Given the description of an element on the screen output the (x, y) to click on. 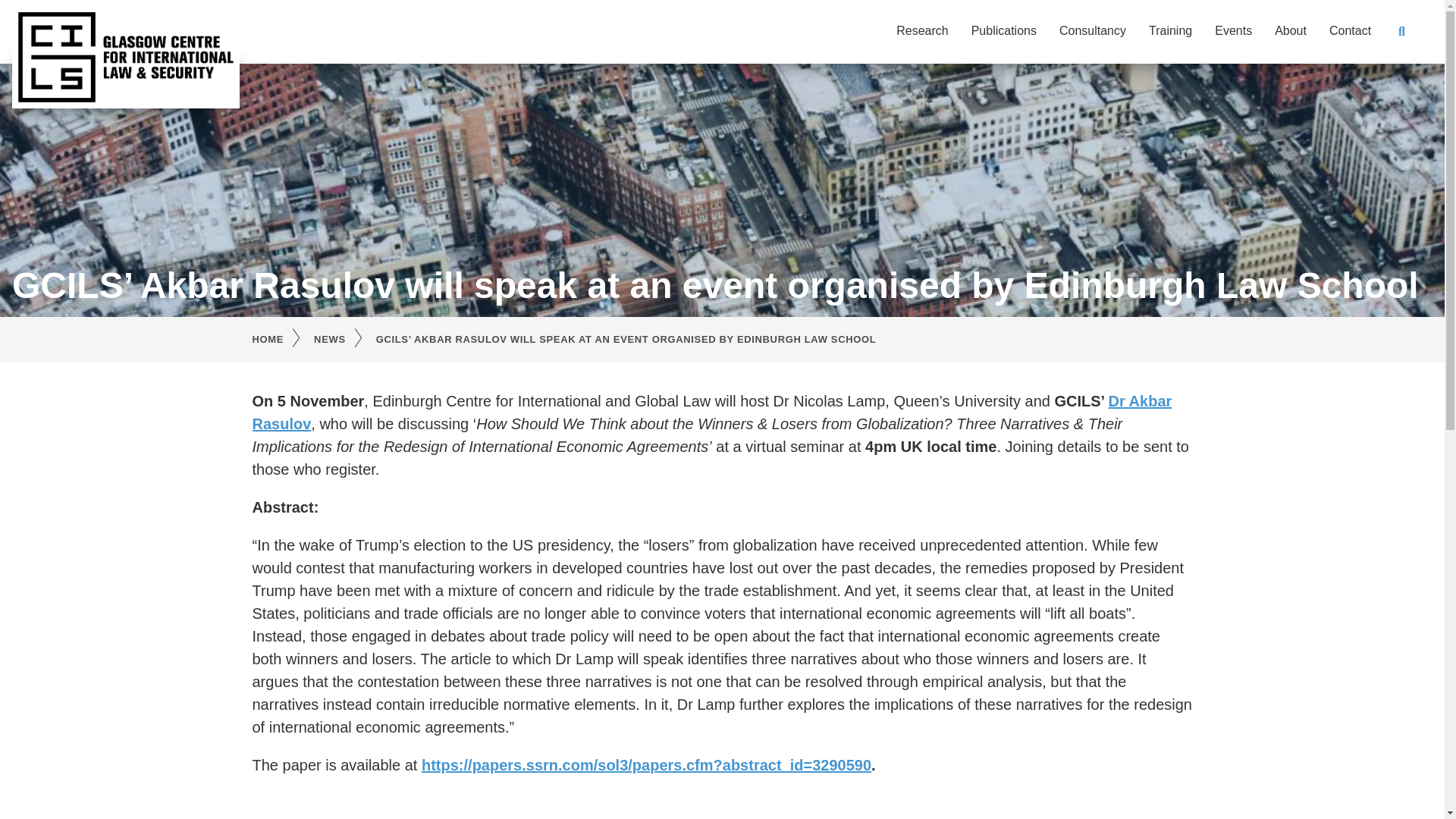
Publications (1003, 30)
Research (921, 30)
Training (1170, 30)
HOME (282, 339)
Contact (1350, 30)
Events (1233, 30)
Consultancy (1092, 30)
Dr Akbar Rasulov (711, 412)
NEWS (344, 339)
About (1290, 30)
